Given the description of an element on the screen output the (x, y) to click on. 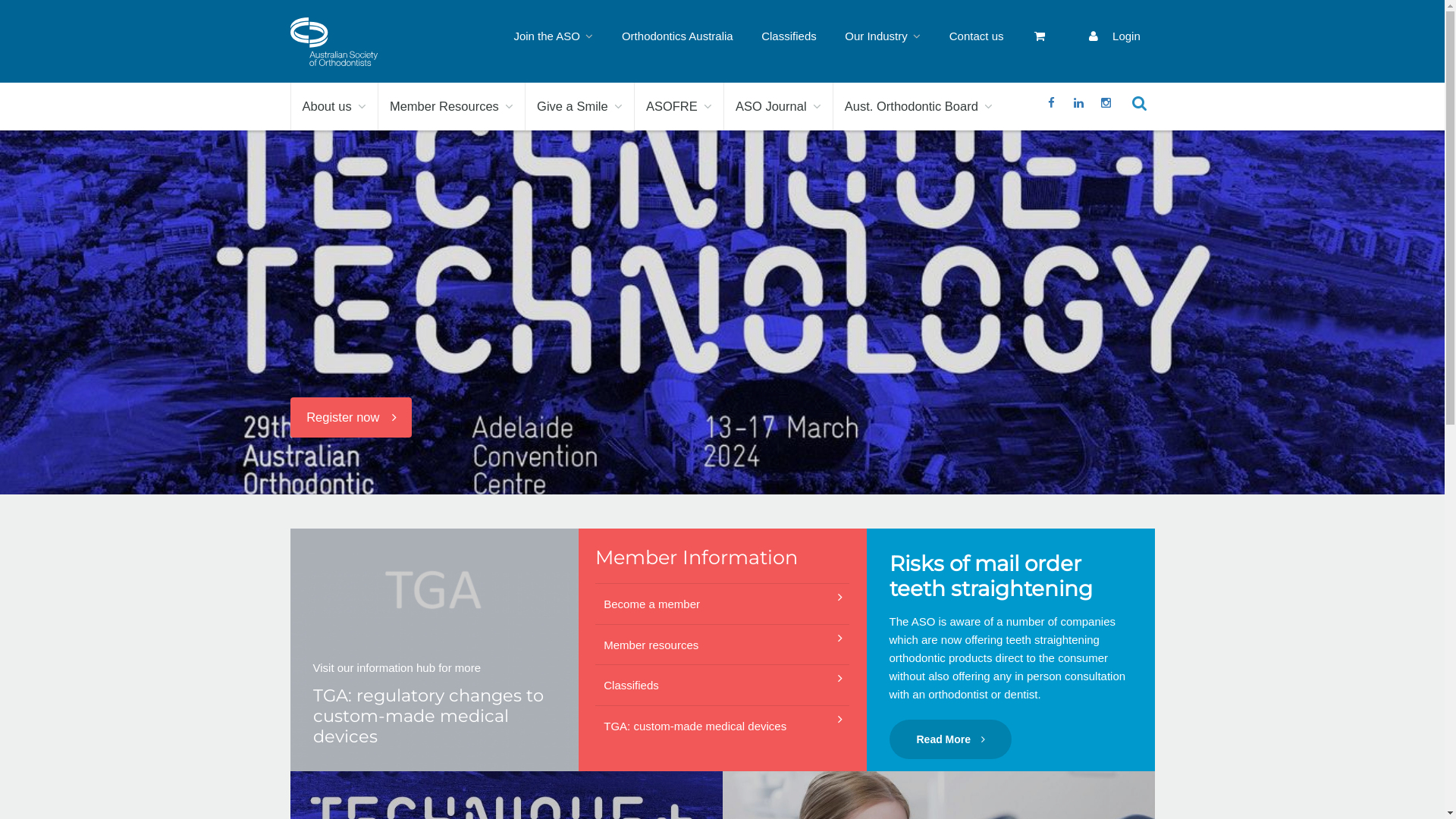
Orthodontics Australia Element type: text (676, 35)
Member Resources Element type: text (451, 106)
Become a member Element type: text (721, 604)
Register now Element type: text (350, 417)
About us Element type: text (334, 106)
Login Element type: text (1113, 35)
ASO Journal Element type: text (778, 106)
Read More Element type: text (949, 739)
Classifieds Element type: text (721, 685)
Classifieds Element type: text (788, 35)
Join the ASO Element type: text (553, 35)
Our Industry Element type: text (882, 35)
Toggle Search Element type: text (1139, 102)
Contact us Element type: text (976, 35)
ASOFRE Element type: text (678, 106)
Give a Smile Element type: text (579, 106)
TGA: custom-made medical devices Element type: text (721, 725)
Aust. Orthodontic Board Element type: text (918, 106)
Member resources Element type: text (721, 644)
